Given the description of an element on the screen output the (x, y) to click on. 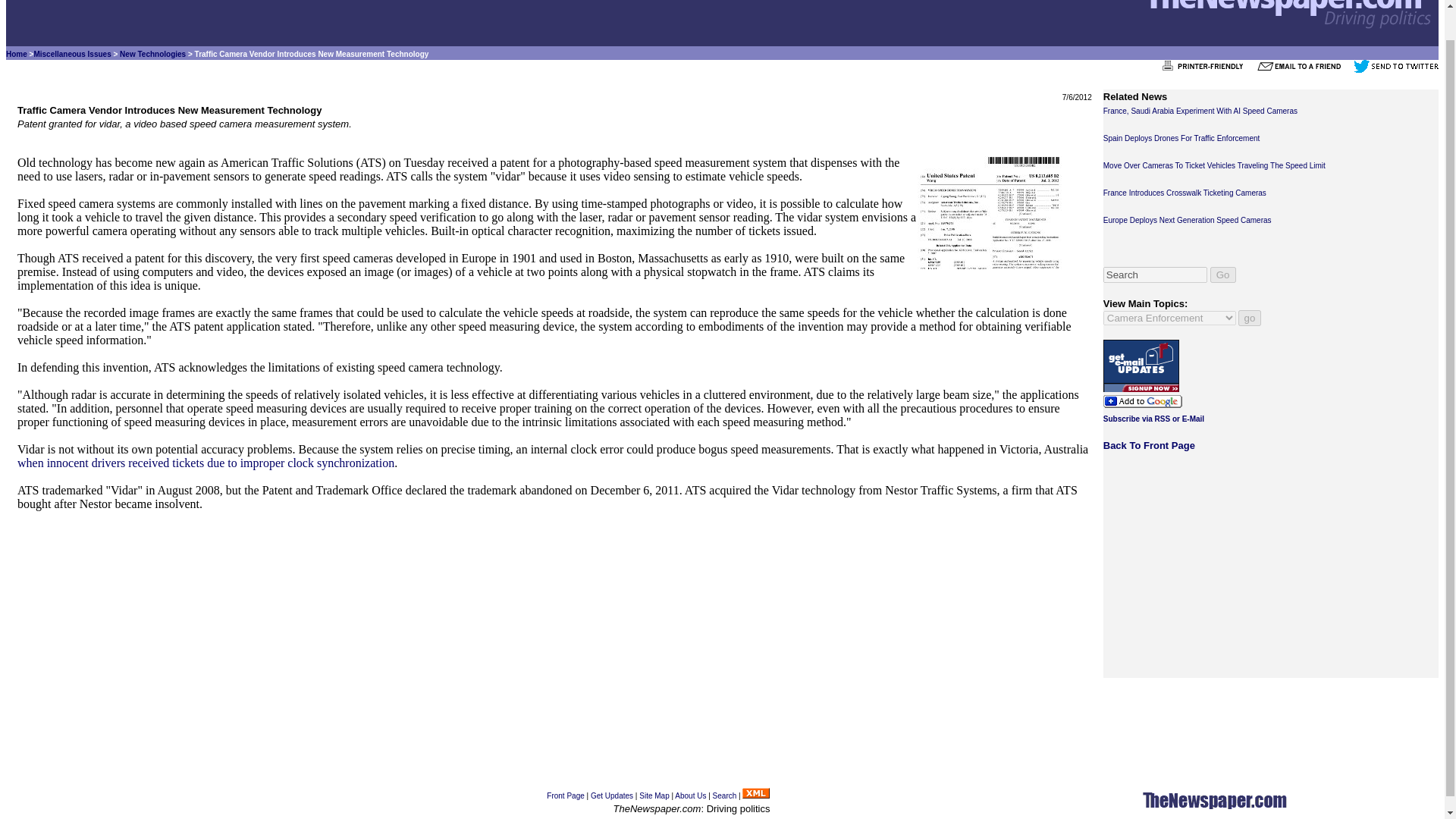
Site Map (653, 795)
Search (724, 795)
Back To Front Page (1149, 445)
Go (1222, 274)
go (1250, 317)
Spain Deploys Drones For Traffic Enforcement (1181, 138)
About Us (1205, 70)
France, Saudi Arabia Experiment With AI Speed Cameras (690, 795)
View Similar Main Topics (1200, 111)
Get Updates (71, 53)
Miscellaneous Issues (612, 795)
Front Page (71, 53)
New Technologies (565, 795)
